Given the description of an element on the screen output the (x, y) to click on. 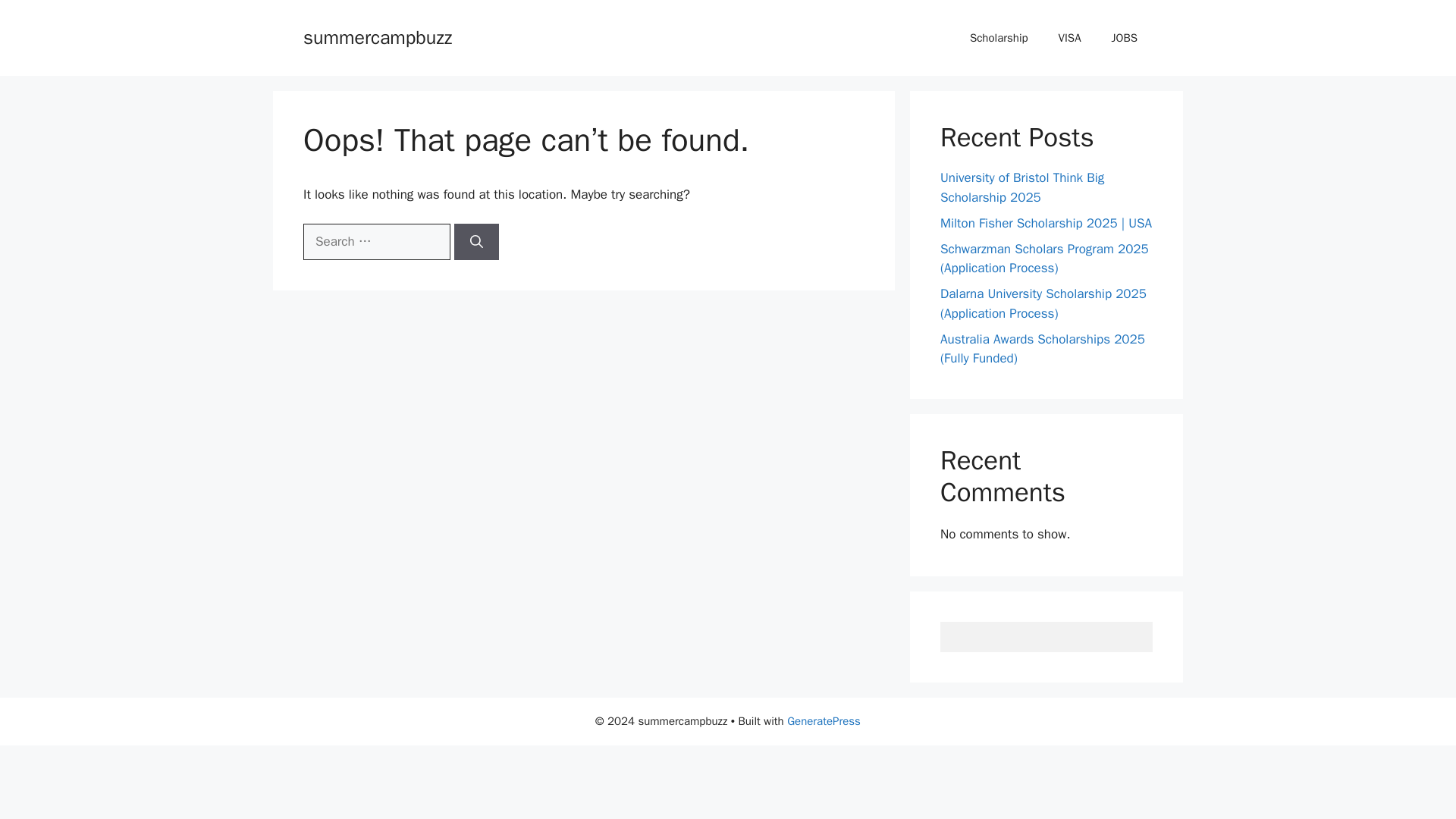
summercampbuzz (376, 37)
University of Bristol Think Big Scholarship 2025 (1021, 187)
JOBS (1124, 37)
Search for: (375, 241)
GeneratePress (823, 721)
Scholarship (999, 37)
VISA (1069, 37)
